Given the description of an element on the screen output the (x, y) to click on. 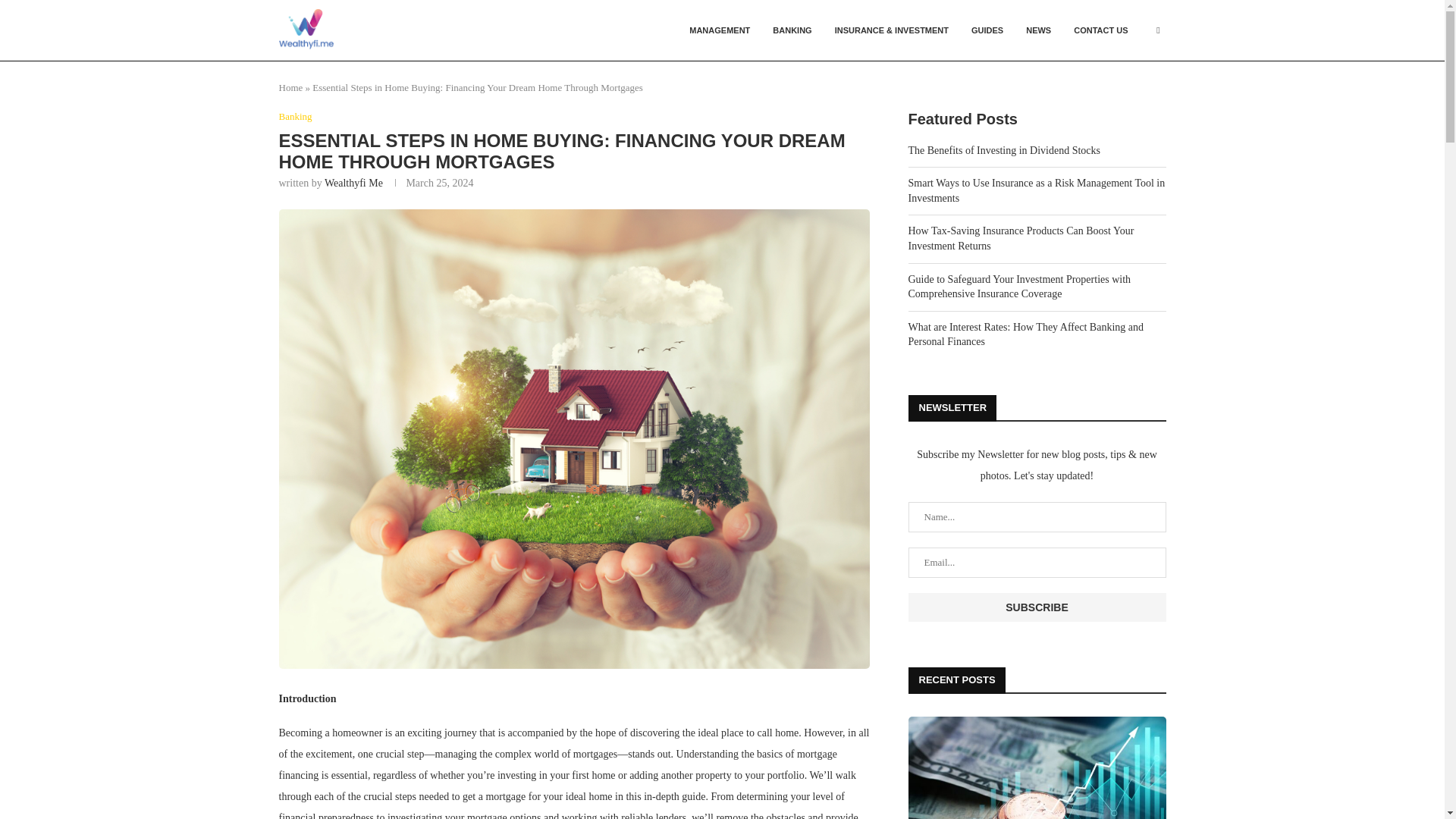
MANAGEMENT (719, 30)
Subscribe (1037, 606)
Home (290, 87)
GUIDES (986, 30)
Banking (296, 116)
CONTACT US (1100, 30)
BANKING (791, 30)
Wealthyfi Me (353, 183)
